Given the description of an element on the screen output the (x, y) to click on. 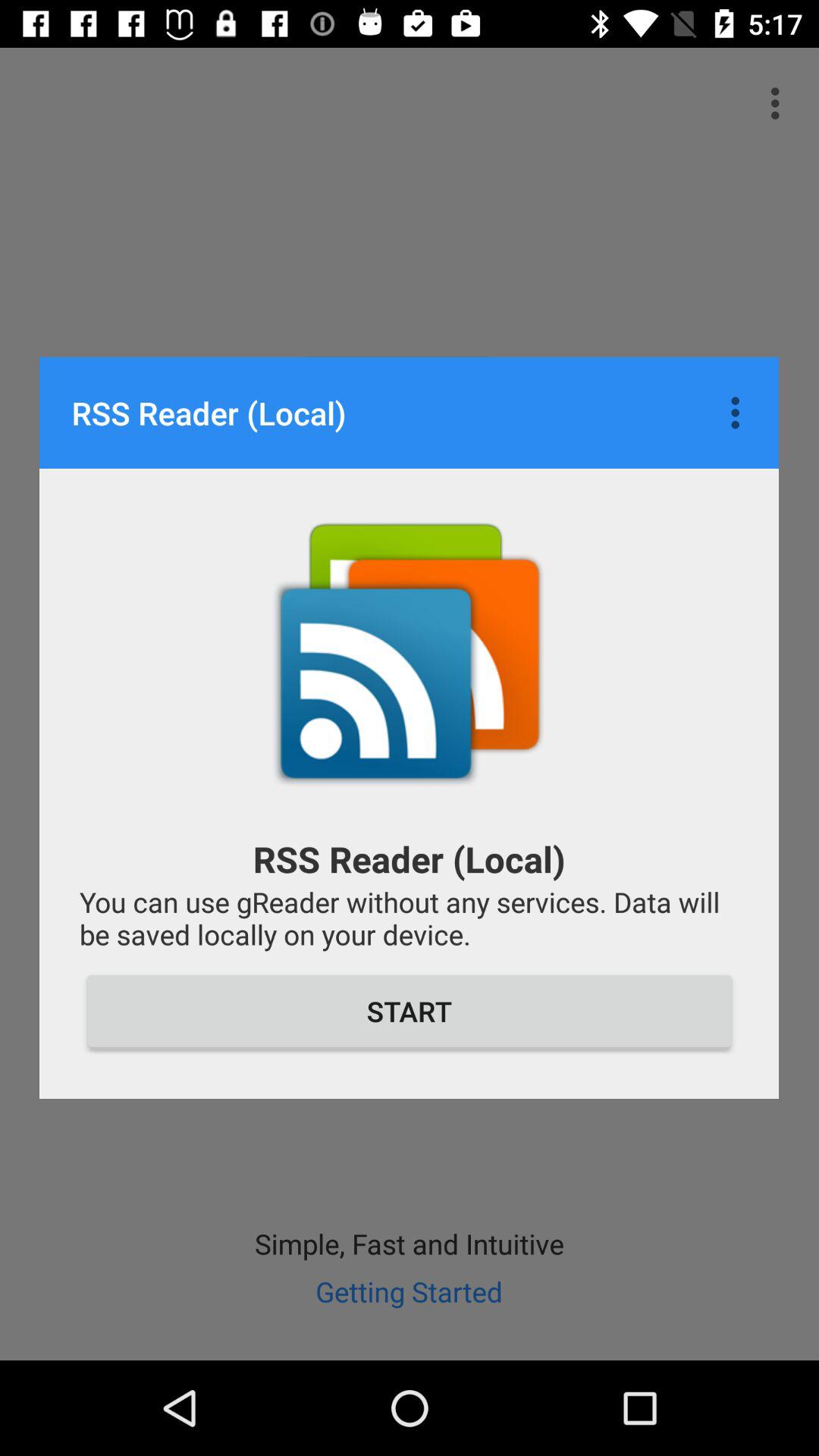
open item above you can use item (739, 412)
